Given the description of an element on the screen output the (x, y) to click on. 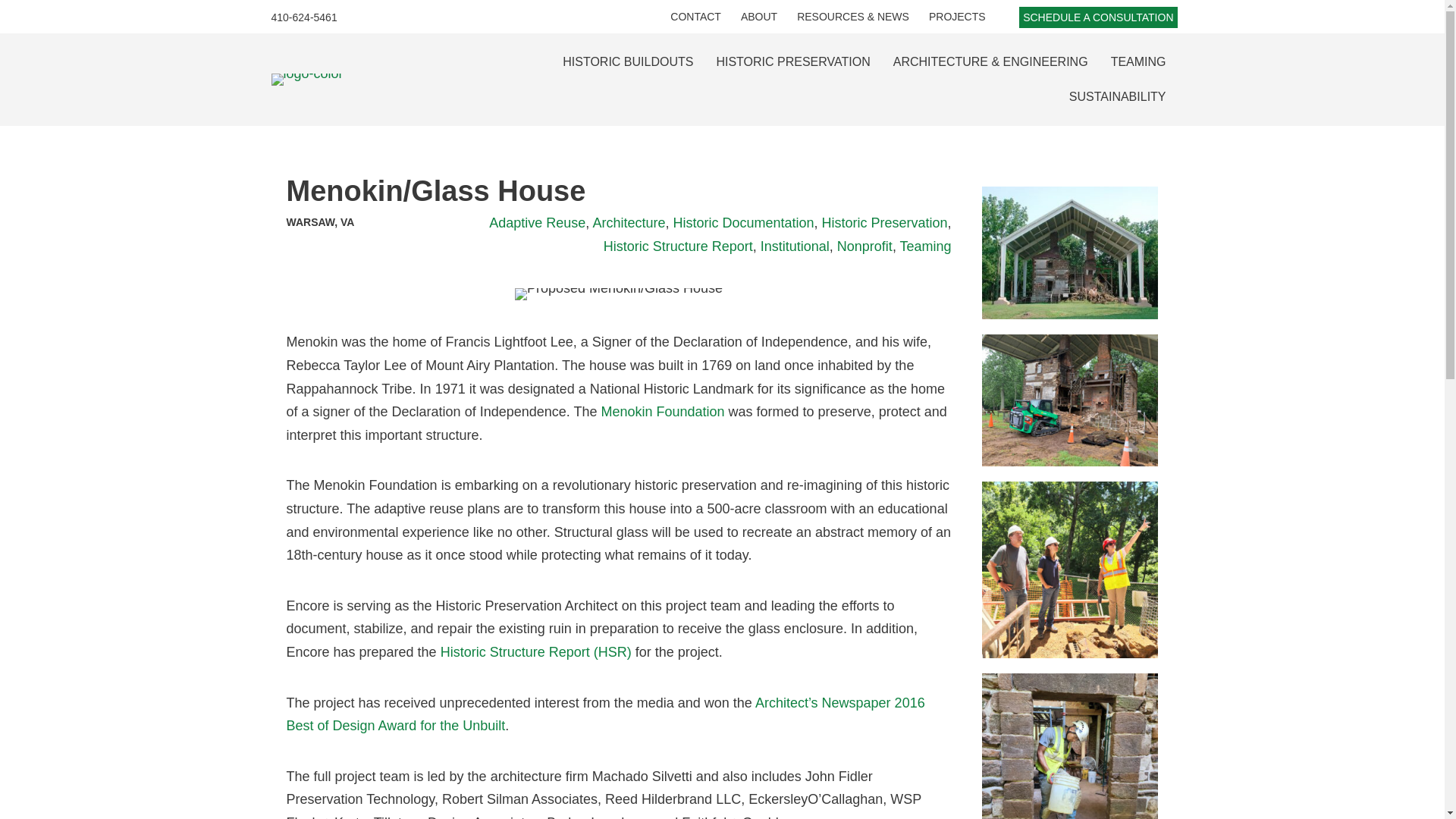
ABOUT (759, 16)
Architecture (628, 222)
Encore Sustainable Design - Menokin Original (1069, 252)
Institutional (794, 246)
410-624-5461 (303, 16)
Historic Preservation (884, 222)
Teaming (925, 246)
PROJECTS (957, 16)
Encore-Architects-Menokin-Window (1069, 746)
